Given the description of an element on the screen output the (x, y) to click on. 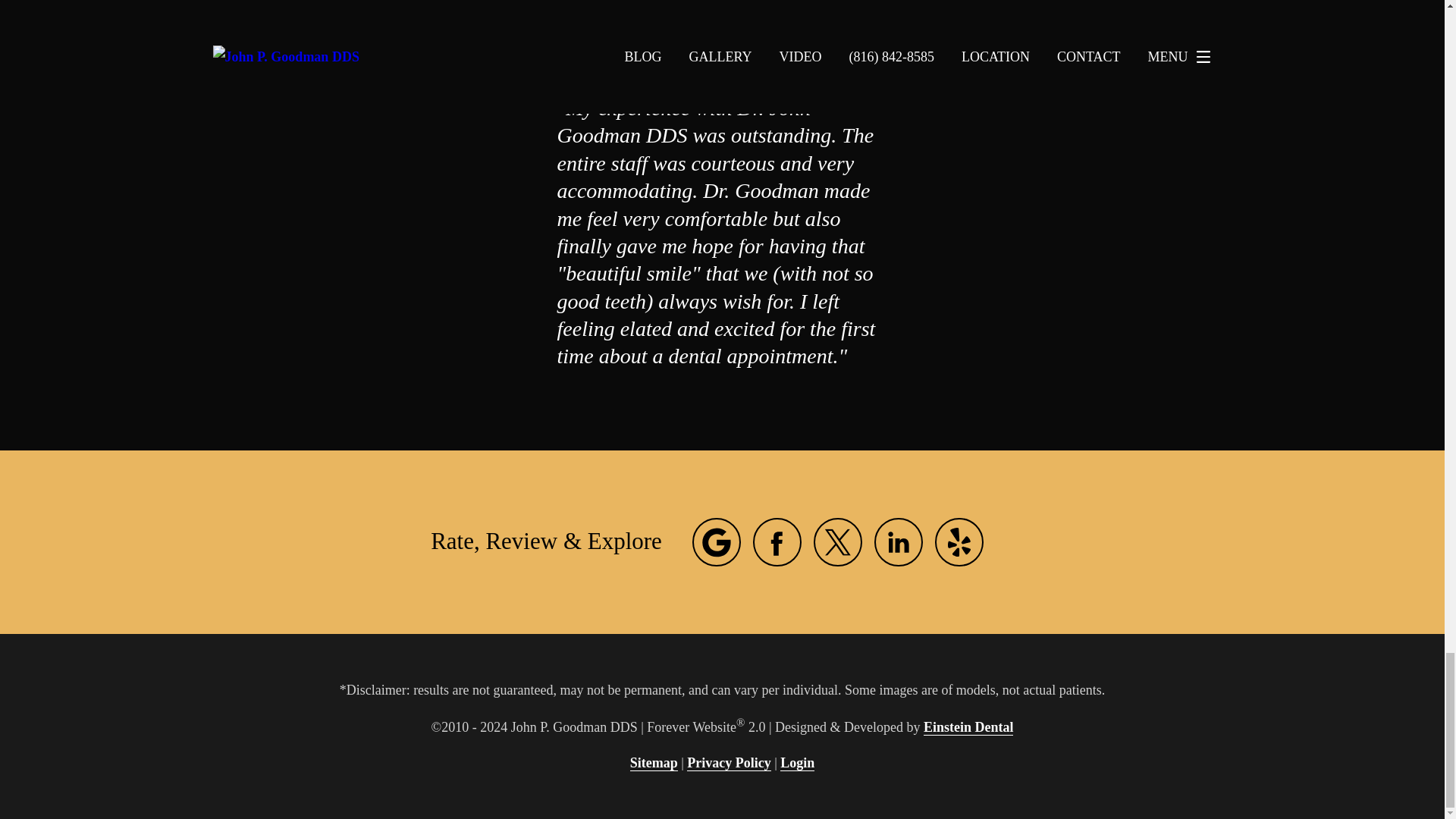
Twitter (837, 541)
Google (717, 541)
Facebook (777, 541)
Yelp (959, 541)
Send Message (721, 71)
LinkedIn (899, 541)
